Given the description of an element on the screen output the (x, y) to click on. 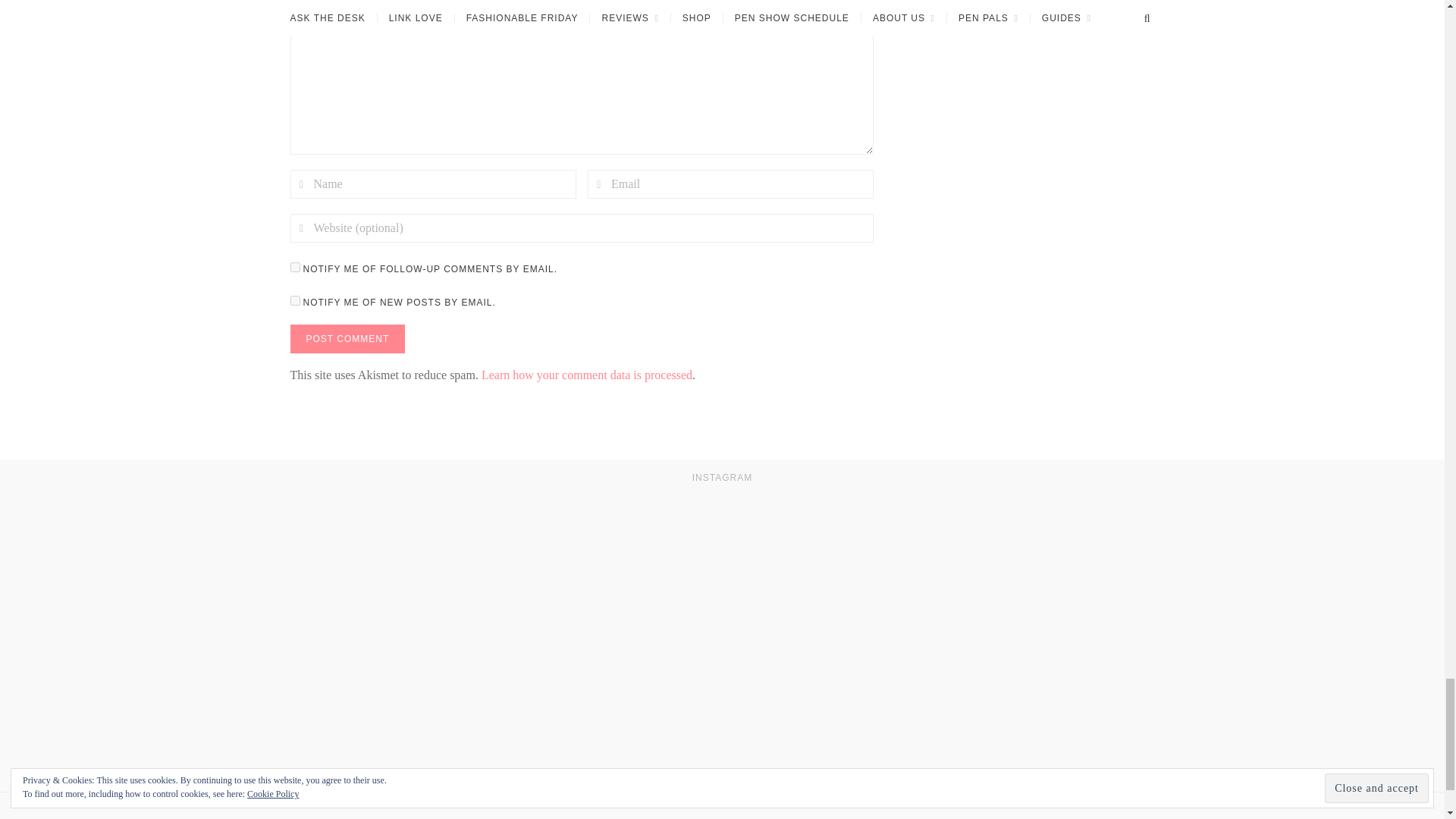
subscribe (294, 266)
subscribe (294, 300)
Post Comment (346, 338)
